Given the description of an element on the screen output the (x, y) to click on. 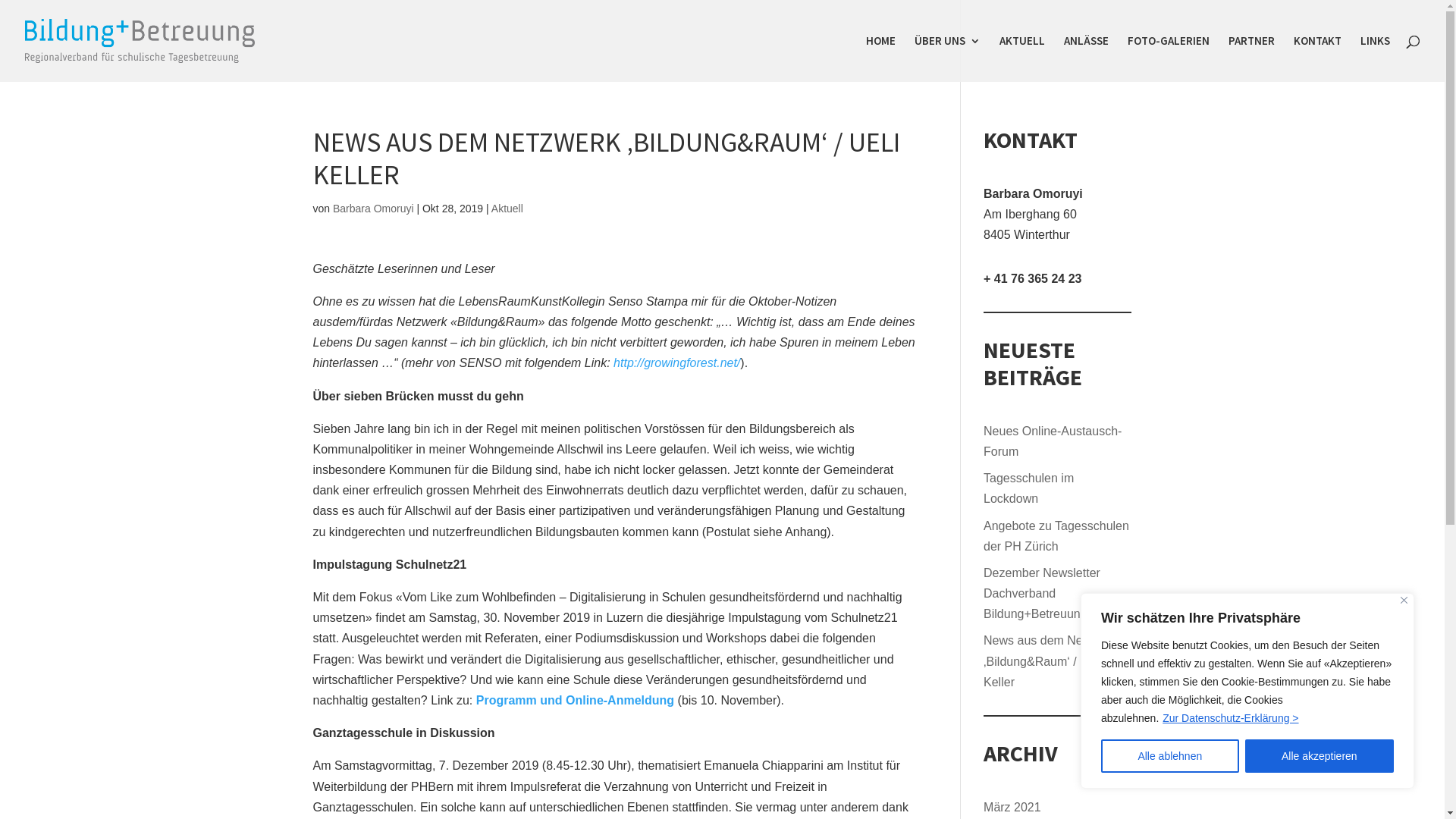
AKTUELL Element type: text (1021, 58)
KONTAKT Element type: text (1317, 58)
HOME Element type: text (880, 58)
Tagesschulen im Lockdown Element type: text (1028, 488)
http://growingforest.net/ Element type: text (676, 362)
Aktuell Element type: text (507, 208)
PARTNER Element type: text (1251, 58)
Dezember Newsletter Dachverband Bildung+Betreuung Element type: text (1041, 593)
Neues Online-Austausch-Forum Element type: text (1052, 441)
Alle akzeptieren Element type: text (1319, 755)
Programm und Online-Anmeldung Element type: text (575, 699)
Alle ablehnen Element type: text (1170, 755)
Barbara Omoruyi Element type: text (373, 208)
FOTO-GALERIEN Element type: text (1168, 58)
LINKS Element type: text (1375, 58)
